Given the description of an element on the screen output the (x, y) to click on. 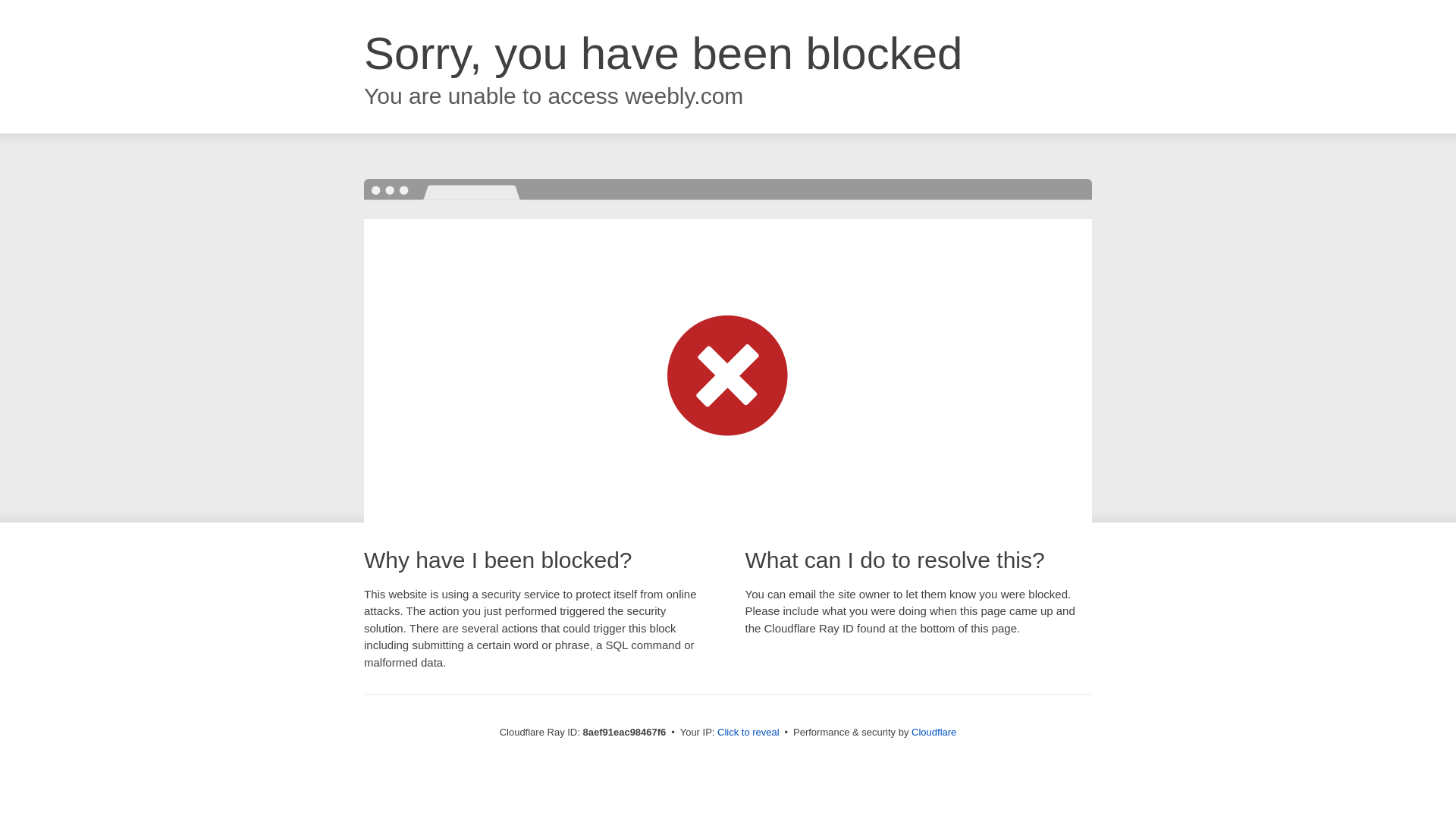
Cloudflare (933, 731)
Click to reveal (747, 732)
